Given the description of an element on the screen output the (x, y) to click on. 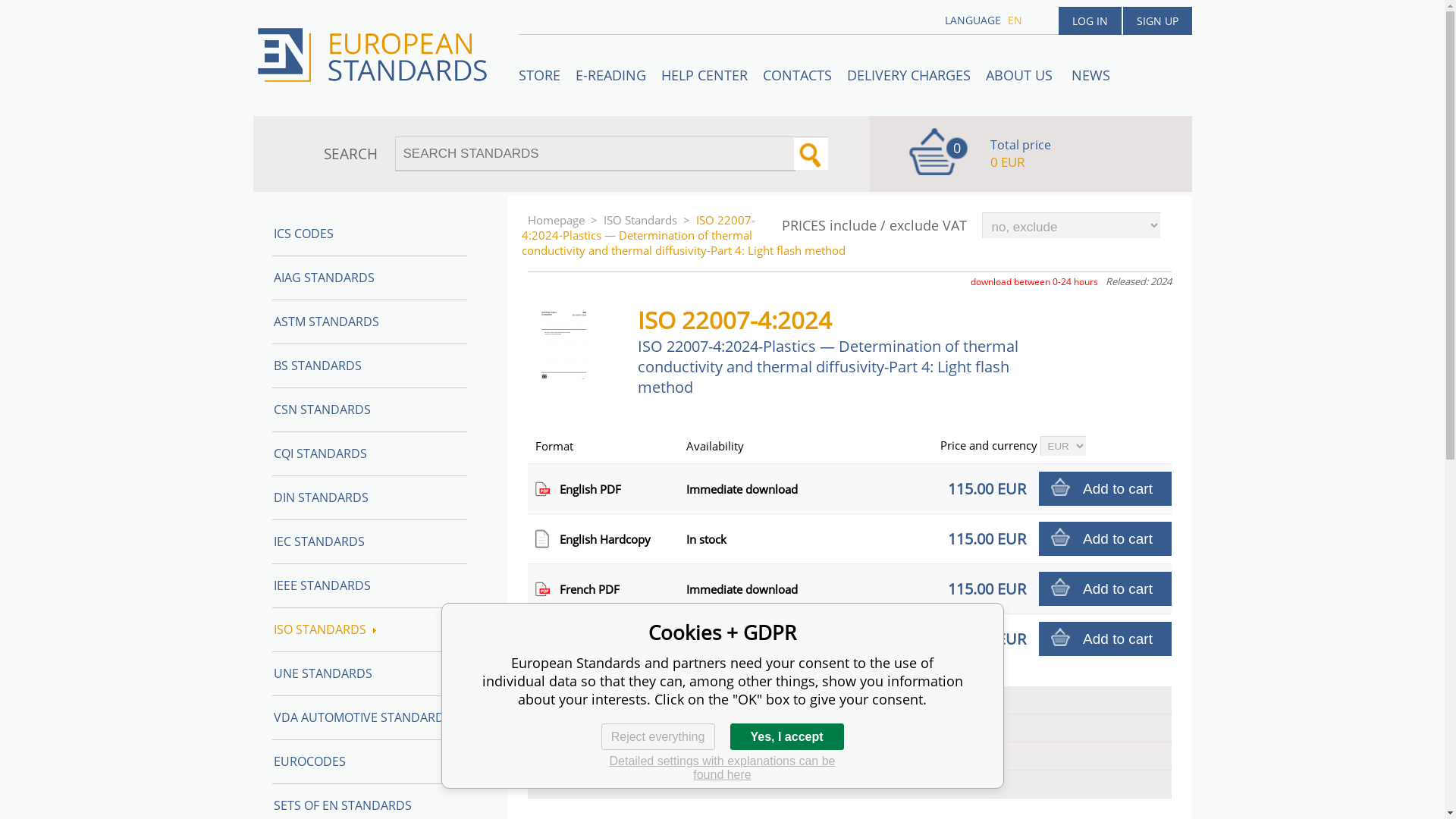
DIN STANDARDS (368, 497)
LOG IN (1089, 20)
Add to cart (1105, 588)
AIAG STANDARDS (368, 278)
News (1089, 75)
CONTACTS (797, 75)
UNE STANDARDS (368, 673)
IEEE STANDARDS (368, 586)
CQI STANDARDS (368, 453)
